Given the description of an element on the screen output the (x, y) to click on. 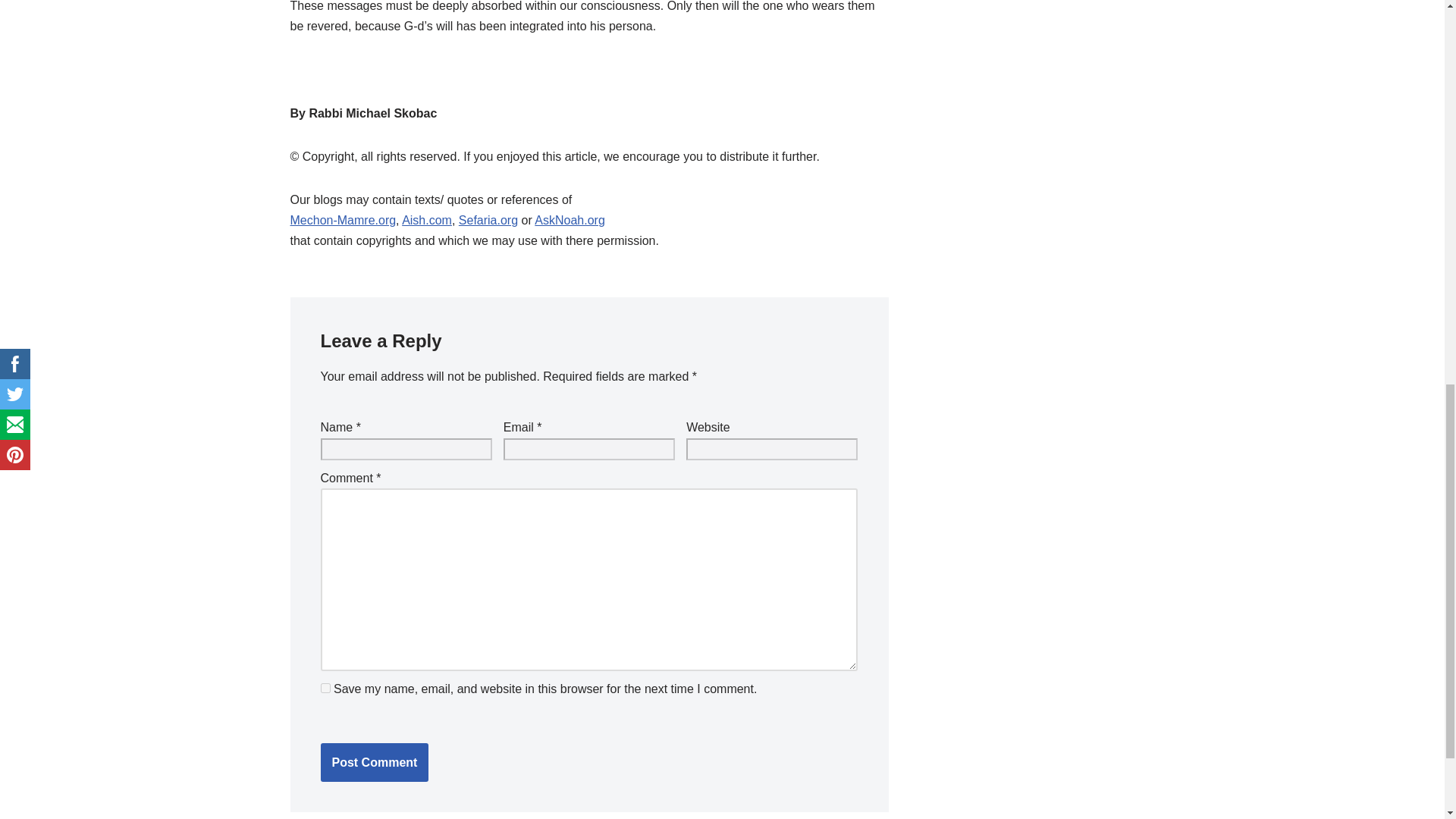
Post Comment (374, 762)
yes (325, 687)
